Given the description of an element on the screen output the (x, y) to click on. 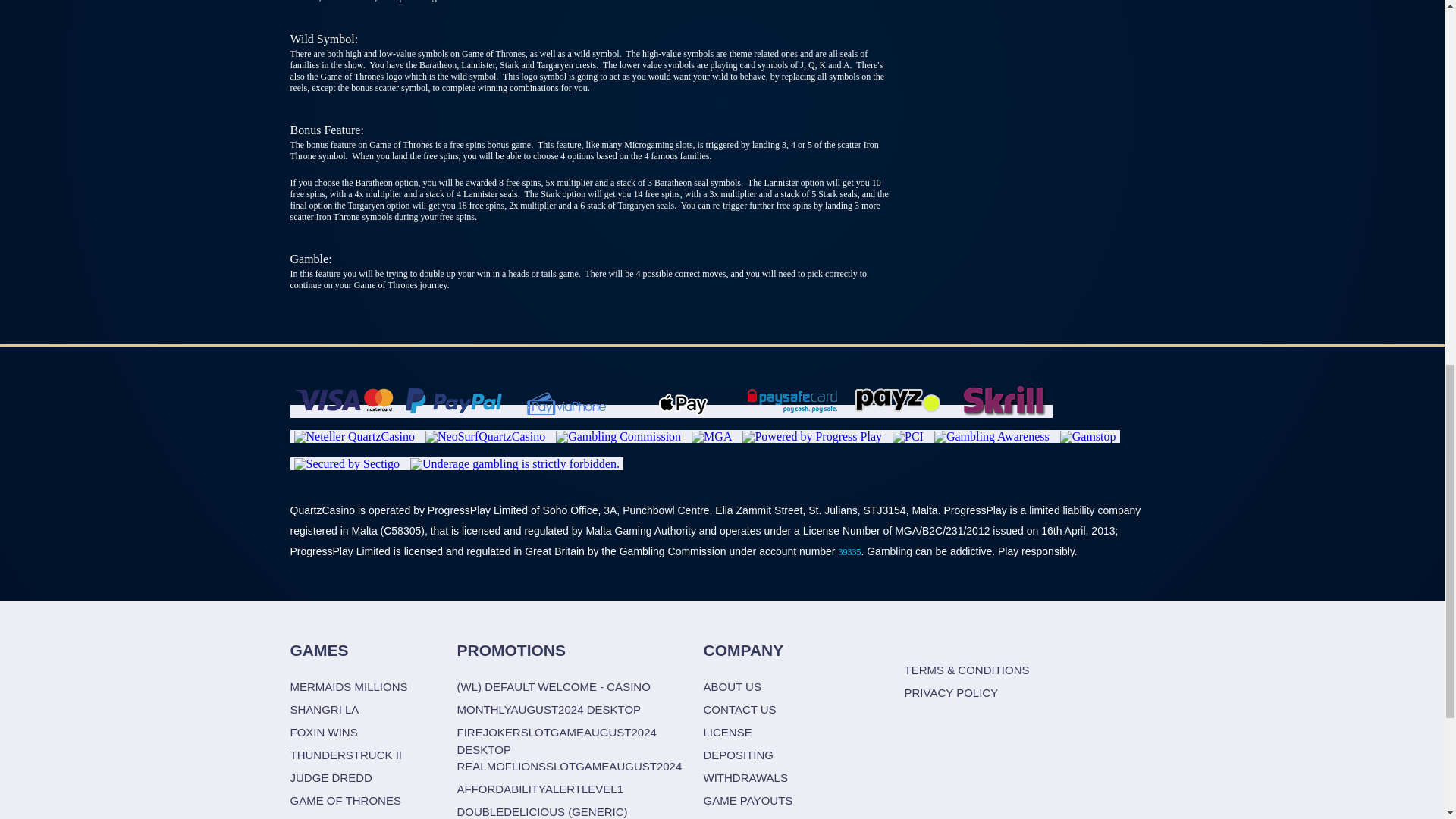
Payment Methods (343, 410)
Payment Methods (354, 436)
Payment Methods (791, 410)
Powered by Progress Play (812, 436)
Payment Methods (452, 410)
Gambling Commission (618, 436)
Payment Methods (565, 410)
Gambling Awareness (991, 436)
Payment Methods (484, 436)
PCI (907, 436)
